Given the description of an element on the screen output the (x, y) to click on. 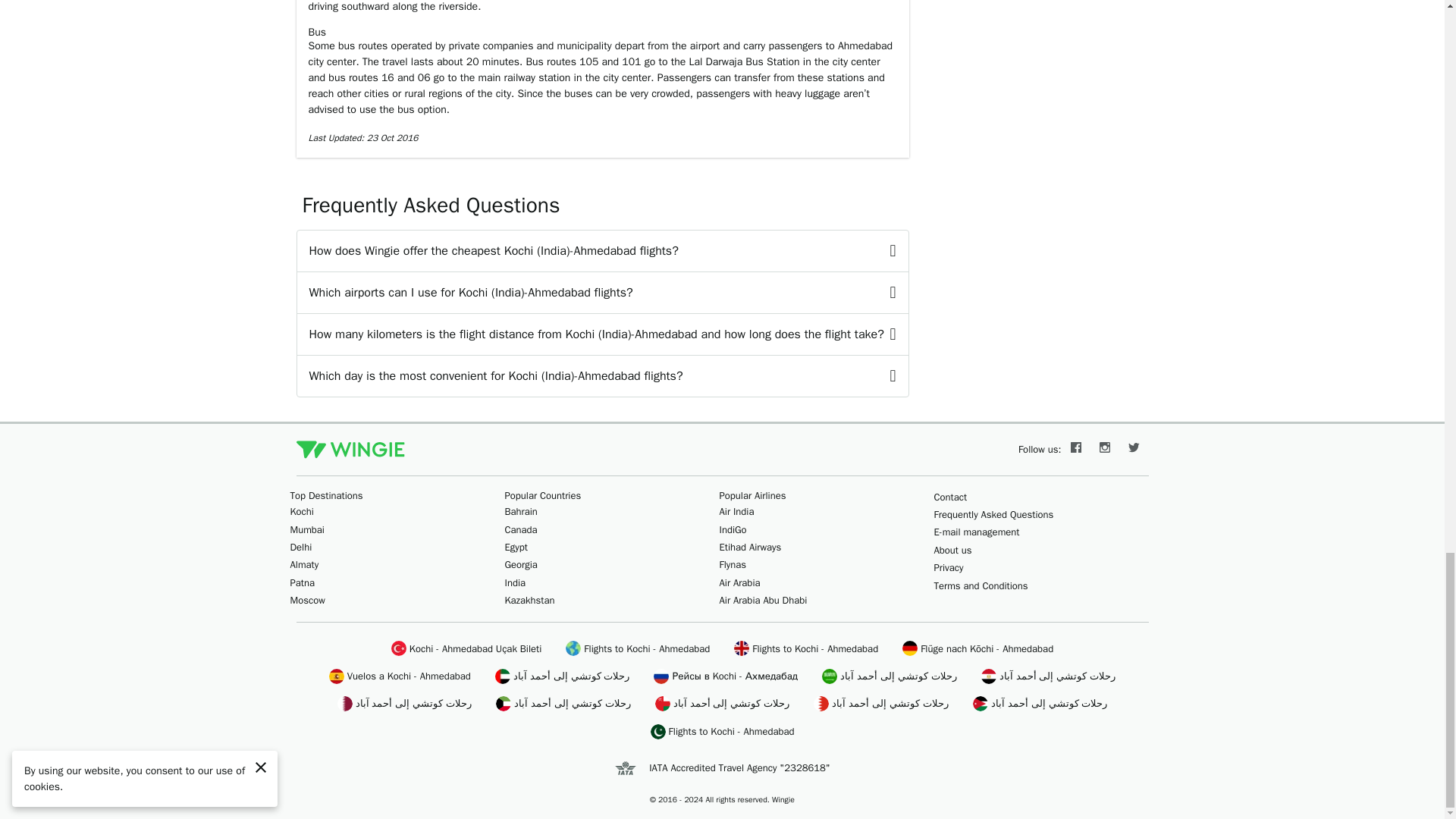
Georgia (521, 563)
Top Destinations (325, 495)
Twitter (1133, 449)
Mumbai (306, 529)
Bahrain (521, 511)
Almaty (303, 563)
Patna (301, 582)
Moscow (306, 599)
Facebook (1075, 449)
Kochi (301, 511)
Popular Countries (542, 495)
Delhi (300, 546)
Instagram (1104, 449)
India (515, 582)
Canada (521, 529)
